Given the description of an element on the screen output the (x, y) to click on. 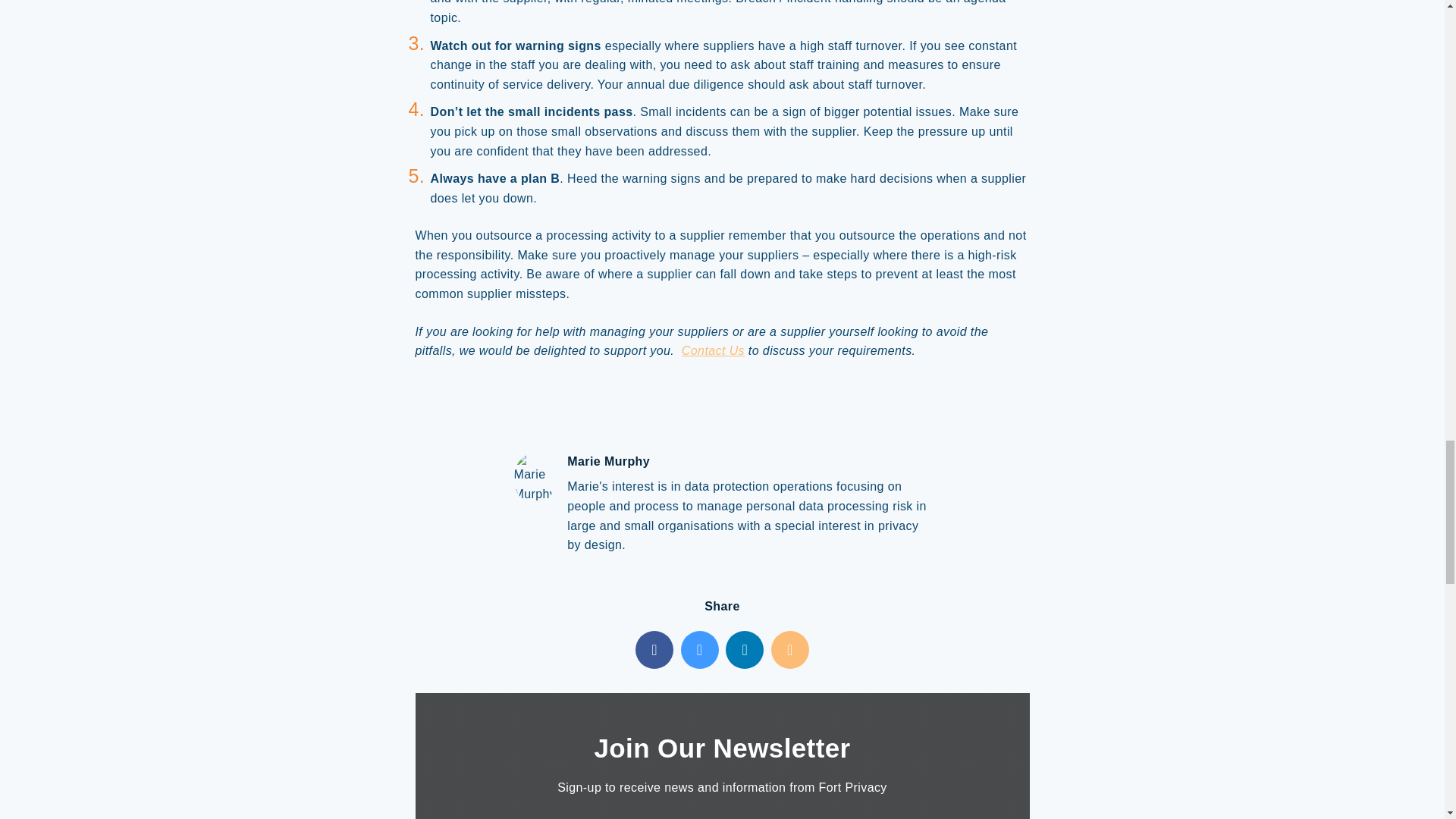
Contact (712, 350)
Linked In (743, 649)
Twitter (700, 649)
Contact Us (712, 350)
Email (790, 649)
Facebook (653, 649)
